Given the description of an element on the screen output the (x, y) to click on. 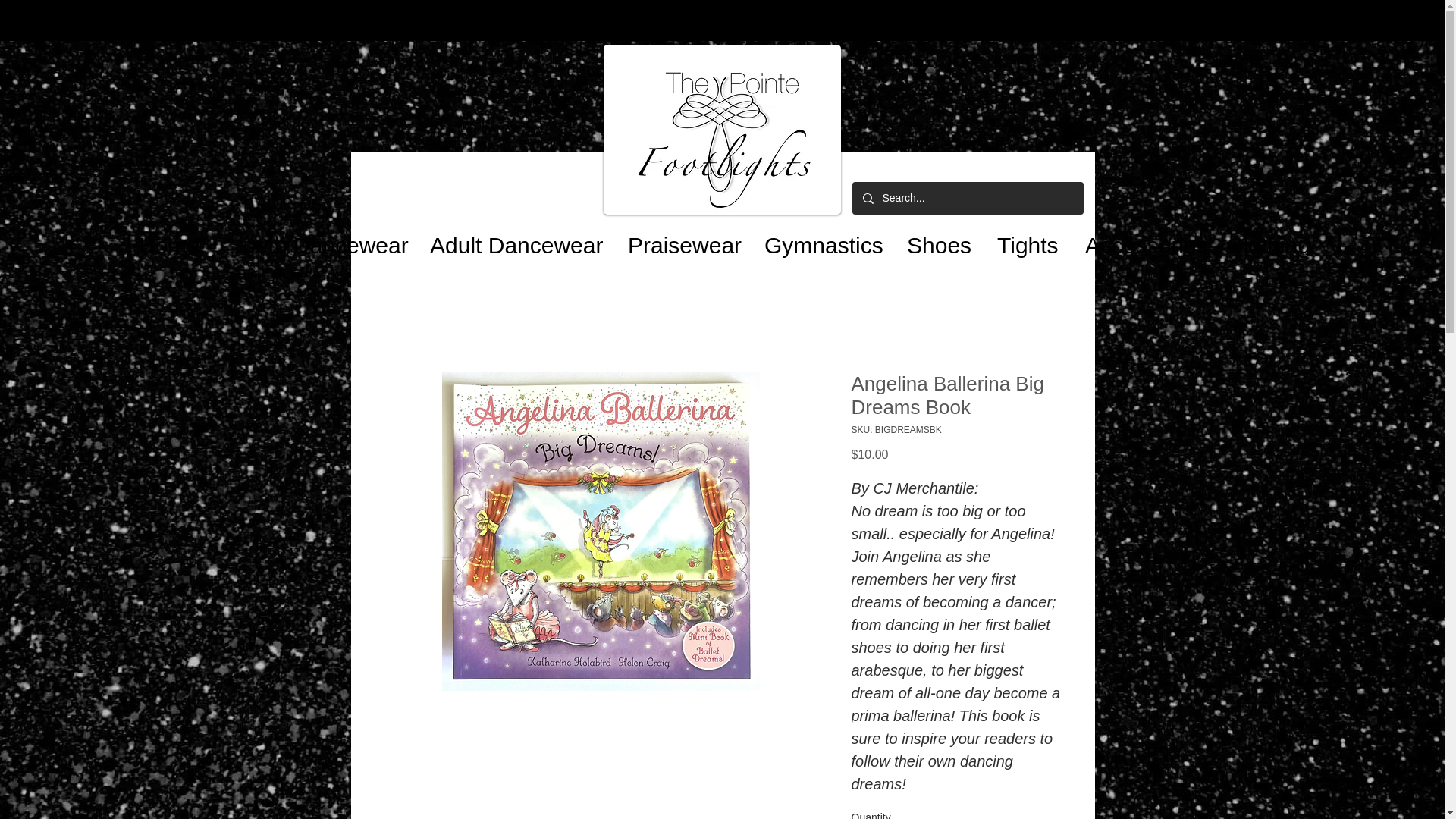
Home (166, 238)
Youth Dancewear (312, 238)
Praisewear (678, 238)
Shoes (934, 238)
Gymnastics (817, 238)
Adult Dancewear (511, 238)
